Given the description of an element on the screen output the (x, y) to click on. 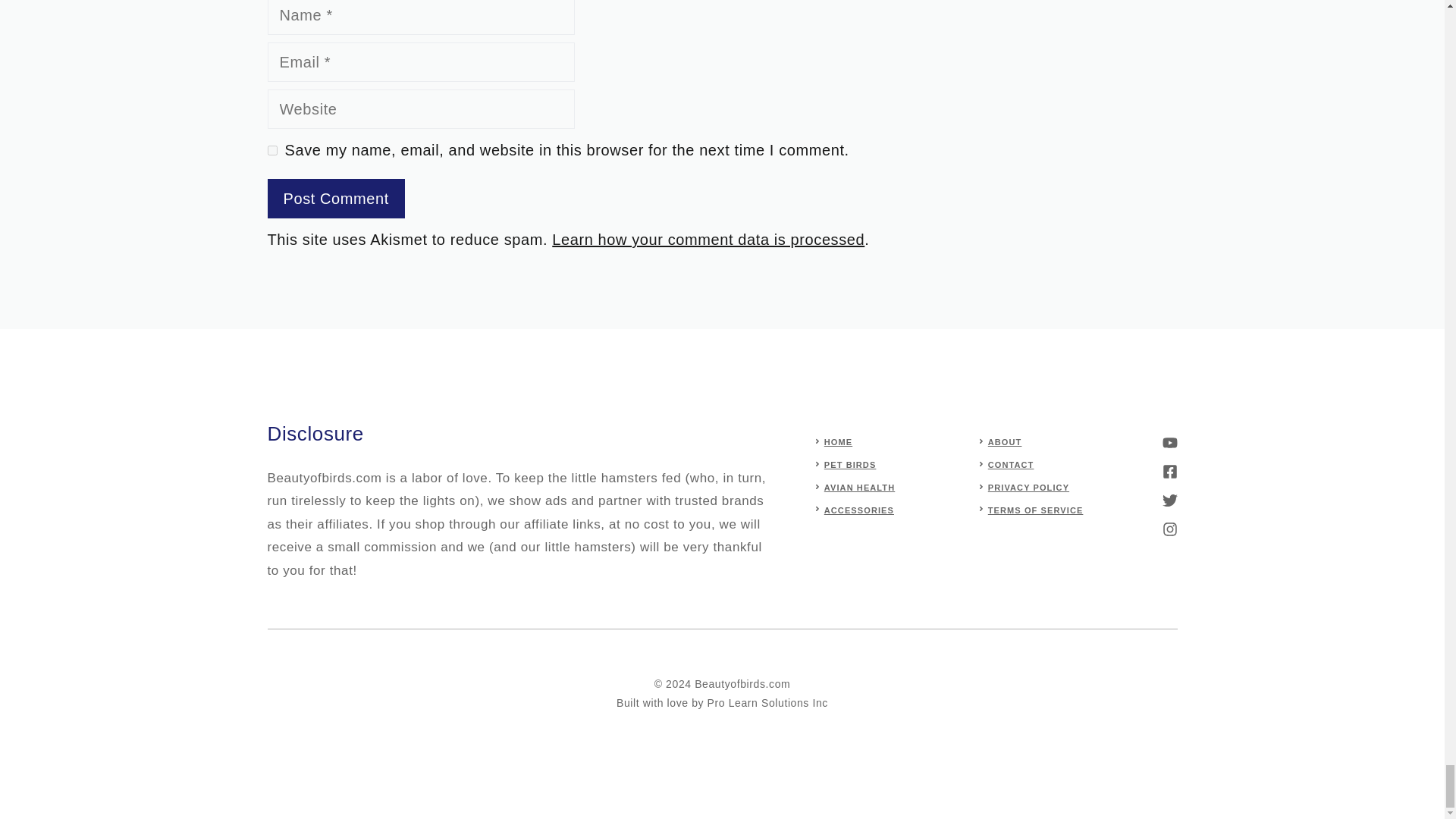
Learn how your comment data is processed (707, 239)
AVIAN HEALTH (859, 487)
ACCESSORIES (858, 510)
yes (271, 150)
Post Comment (335, 198)
PET BIRDS (850, 464)
Post Comment (335, 198)
HOME (837, 441)
